Given the description of an element on the screen output the (x, y) to click on. 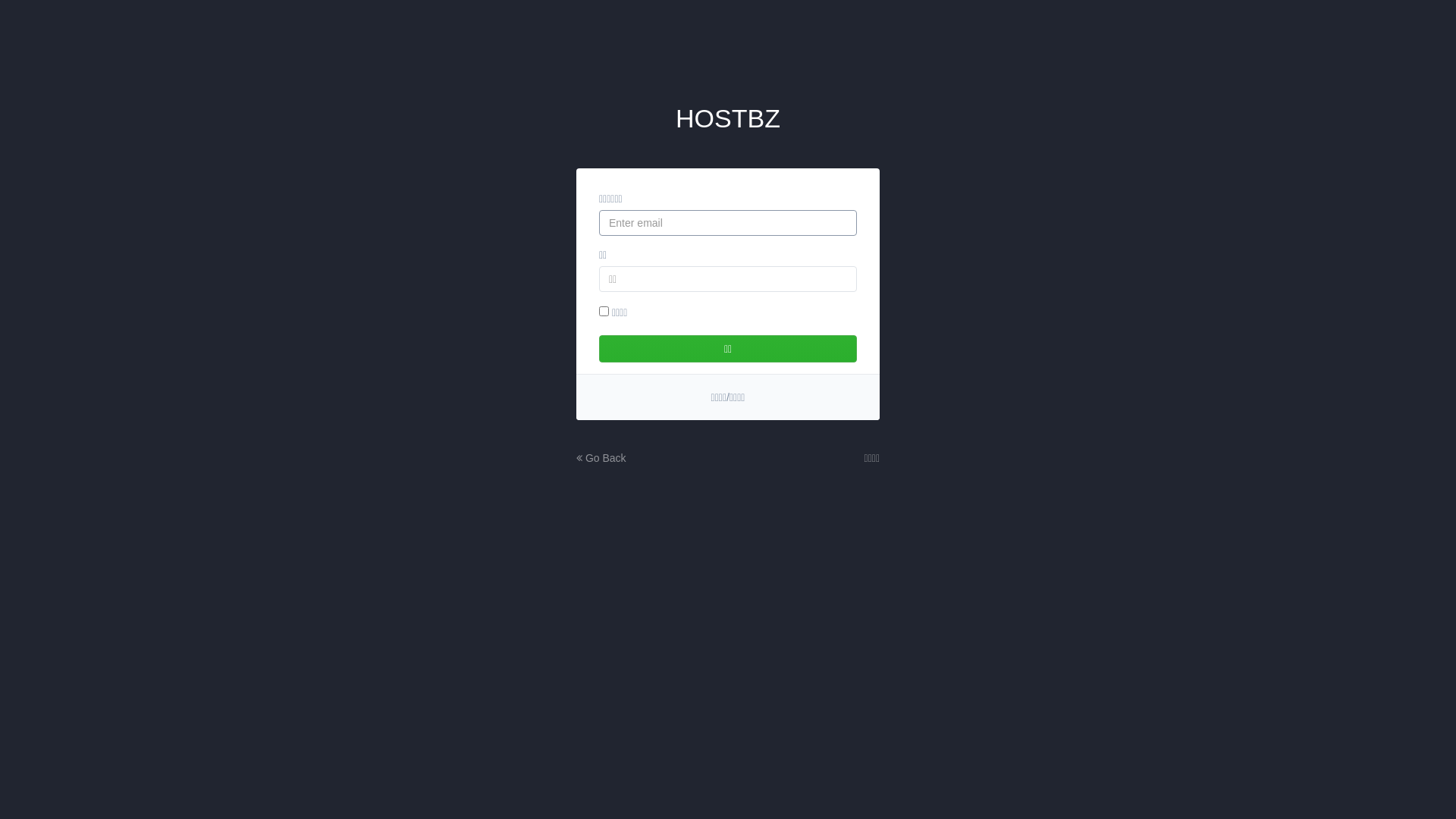
HOSTBZ Element type: text (727, 118)
Go Back Element type: text (601, 457)
